Given the description of an element on the screen output the (x, y) to click on. 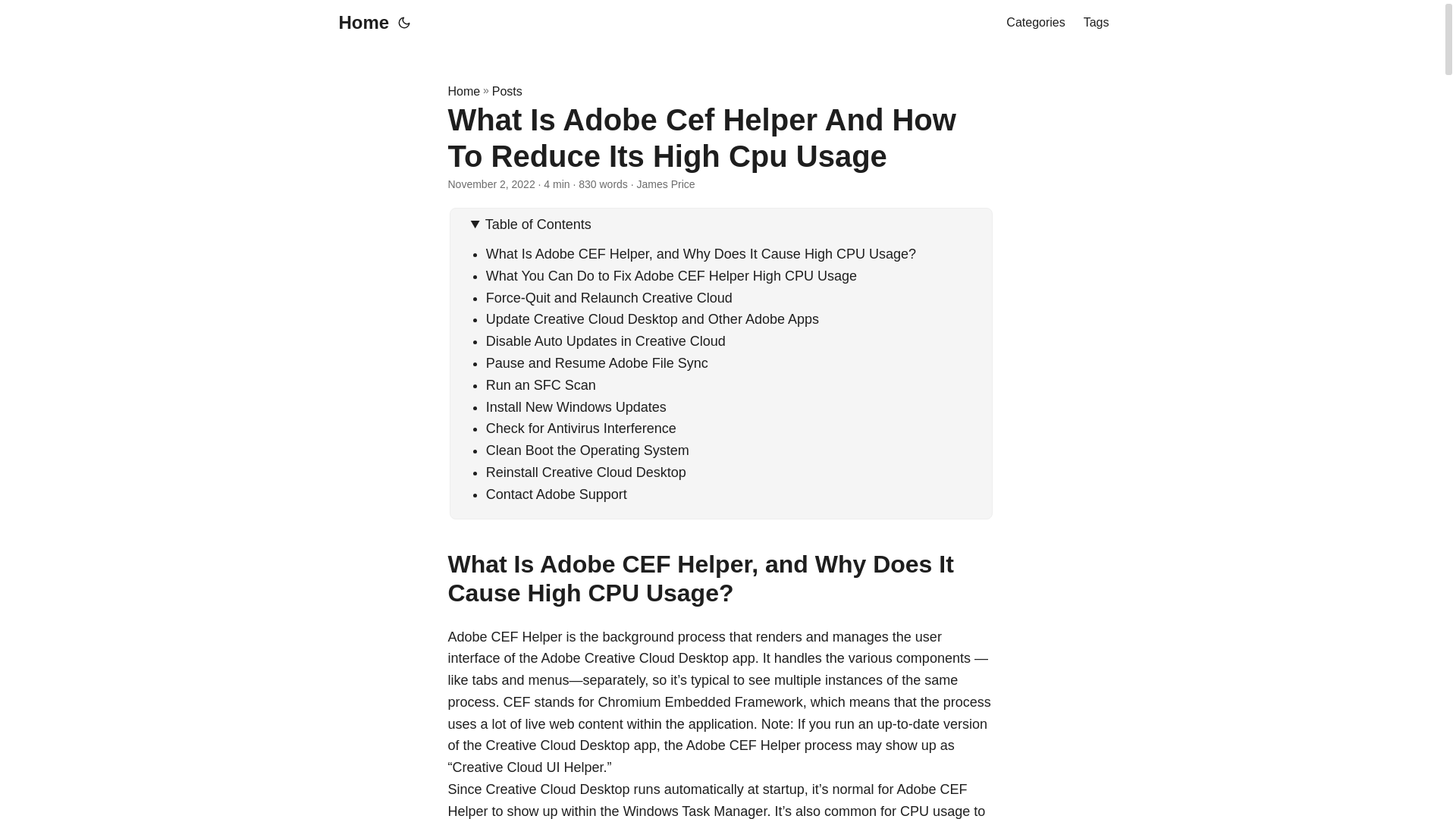
Reinstall Creative Cloud Desktop (585, 472)
Categories (1035, 22)
Force-Quit and Relaunch Creative Cloud (609, 297)
Posts (507, 91)
Clean Boot the Operating System (587, 450)
Update Creative Cloud Desktop and Other Adobe Apps (652, 319)
Pause and Resume Adobe File Sync (596, 363)
Disable Auto Updates in Creative Cloud (605, 340)
Home (463, 91)
Run an SFC Scan (540, 385)
Categories (1035, 22)
Check for Antivirus Interference (581, 427)
Home (359, 22)
Install New Windows Updates (576, 406)
